Given the description of an element on the screen output the (x, y) to click on. 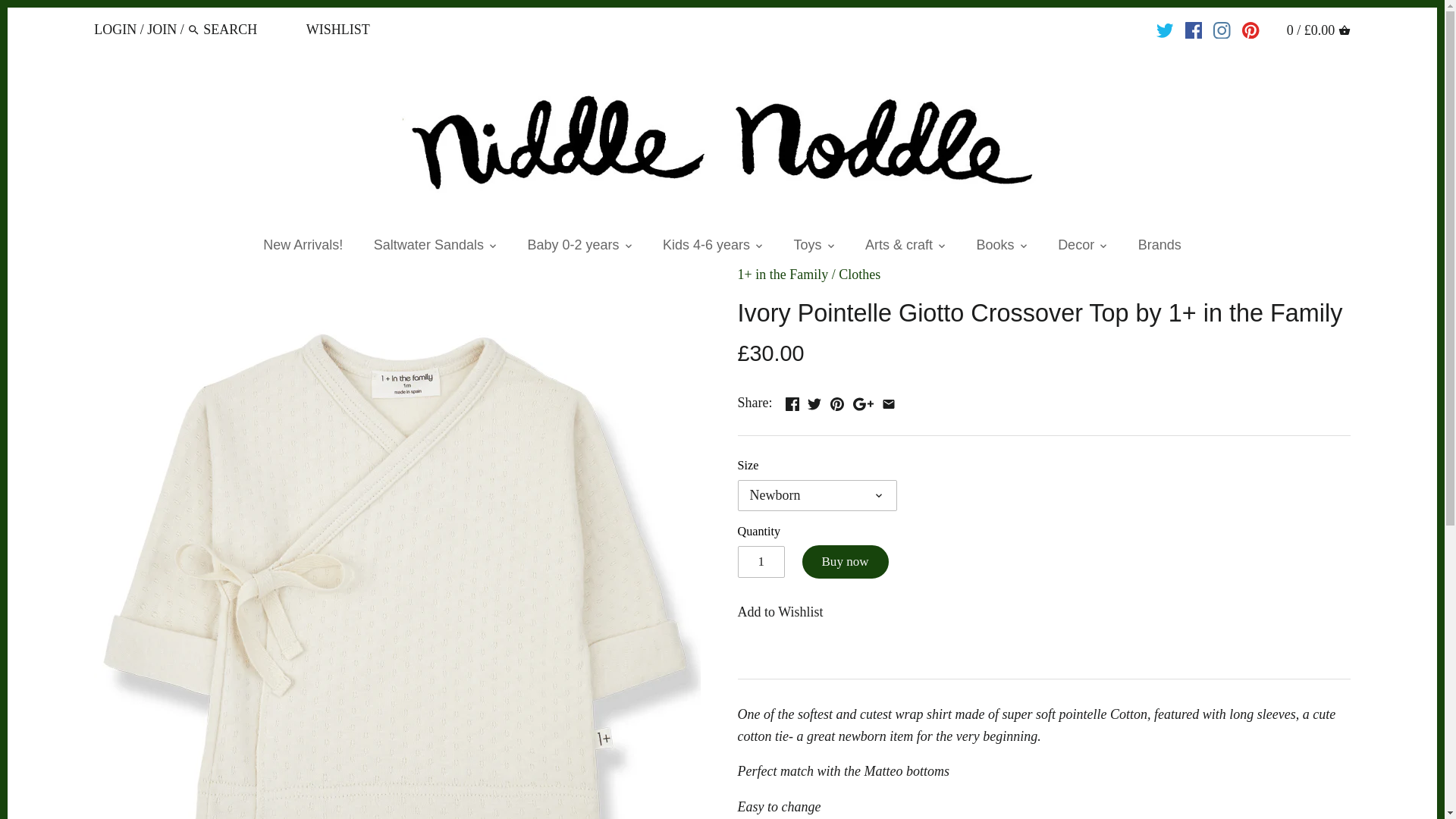
GooglePlus (863, 404)
Pin the main image (836, 400)
Share on Twitter (814, 400)
New Arrivals! (302, 247)
Baby 0-2 years (572, 247)
Facebook (792, 404)
1 (760, 562)
CART (1344, 30)
Email (888, 404)
Share using email (888, 400)
Twitter (814, 404)
Search (193, 29)
Pinterest (836, 404)
PINTEREST (1250, 30)
INSTAGRAM (1221, 30)
